Given the description of an element on the screen output the (x, y) to click on. 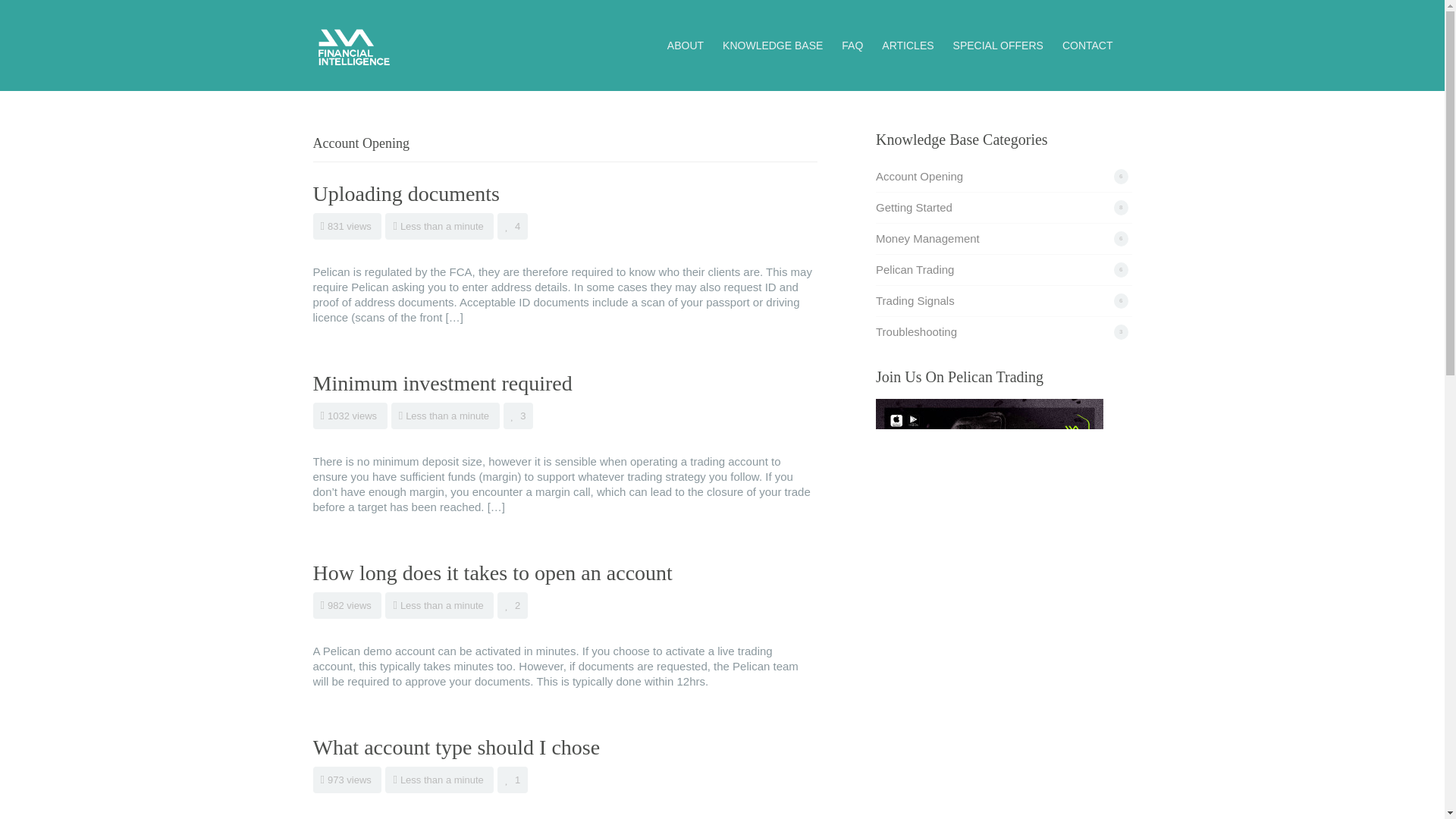
View all posts in Money Management (927, 237)
Permanent Link to Minimum investment required (442, 382)
1 (512, 779)
What account type should I chose (456, 747)
Like this (512, 605)
Uploading documents (406, 193)
Pelican Trading (914, 269)
Account Opening (919, 175)
Getting Started (914, 206)
View all posts in Getting Started (914, 206)
Troubleshooting (916, 331)
4 (512, 225)
S1X Financial Help Center (353, 44)
3 (518, 415)
Like this (512, 225)
